Given the description of an element on the screen output the (x, y) to click on. 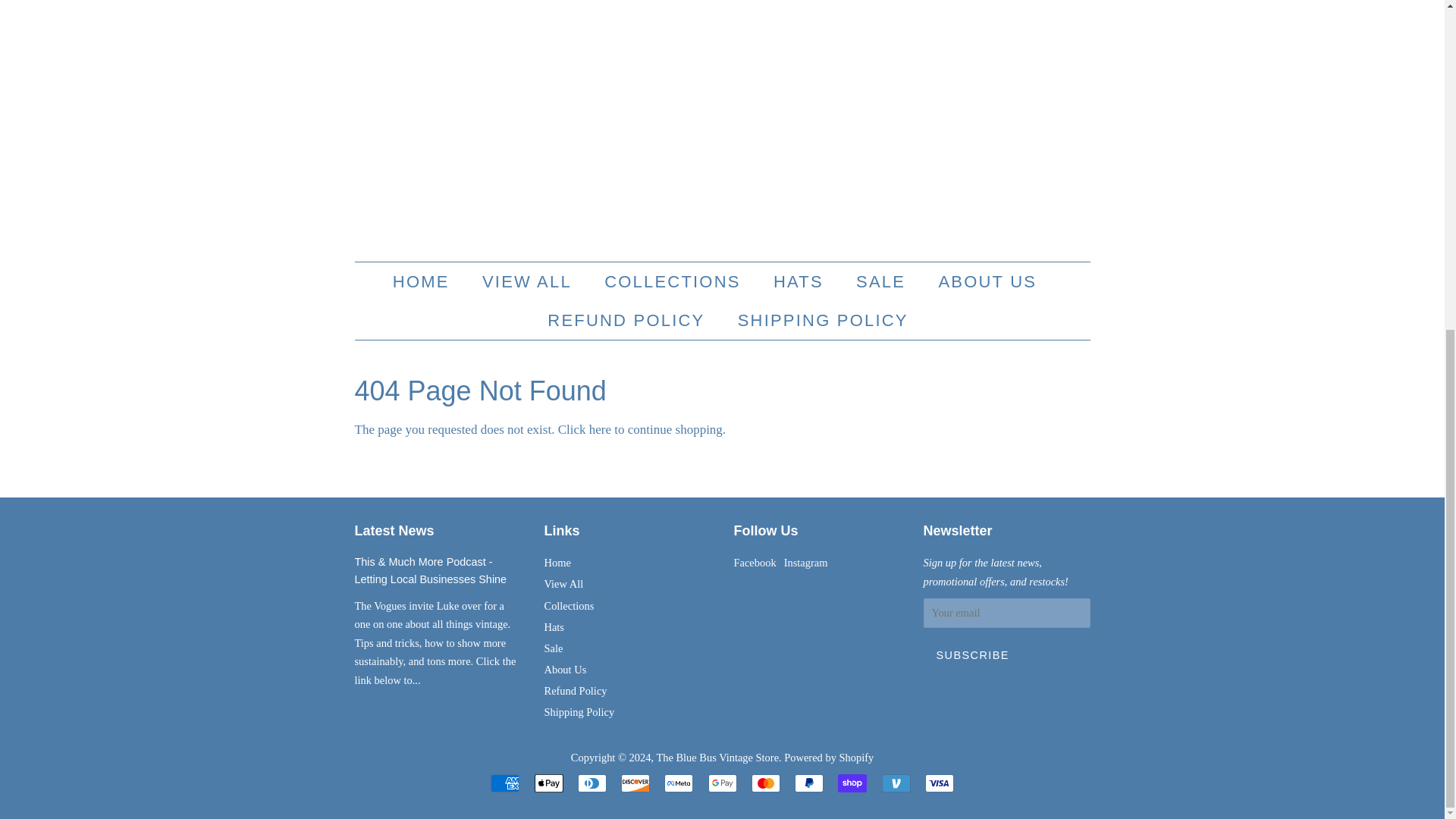
VIEW ALL (528, 281)
COLLECTIONS (673, 281)
Collections (569, 605)
Google Pay (721, 782)
Sale (553, 648)
SHIPPING POLICY (817, 320)
Refund Policy (575, 690)
American Express (504, 782)
SALE (882, 281)
HOME (428, 281)
Diners Club (592, 782)
Home (557, 562)
Shipping Policy (579, 711)
Meta Pay (678, 782)
Mastercard (765, 782)
